Given the description of an element on the screen output the (x, y) to click on. 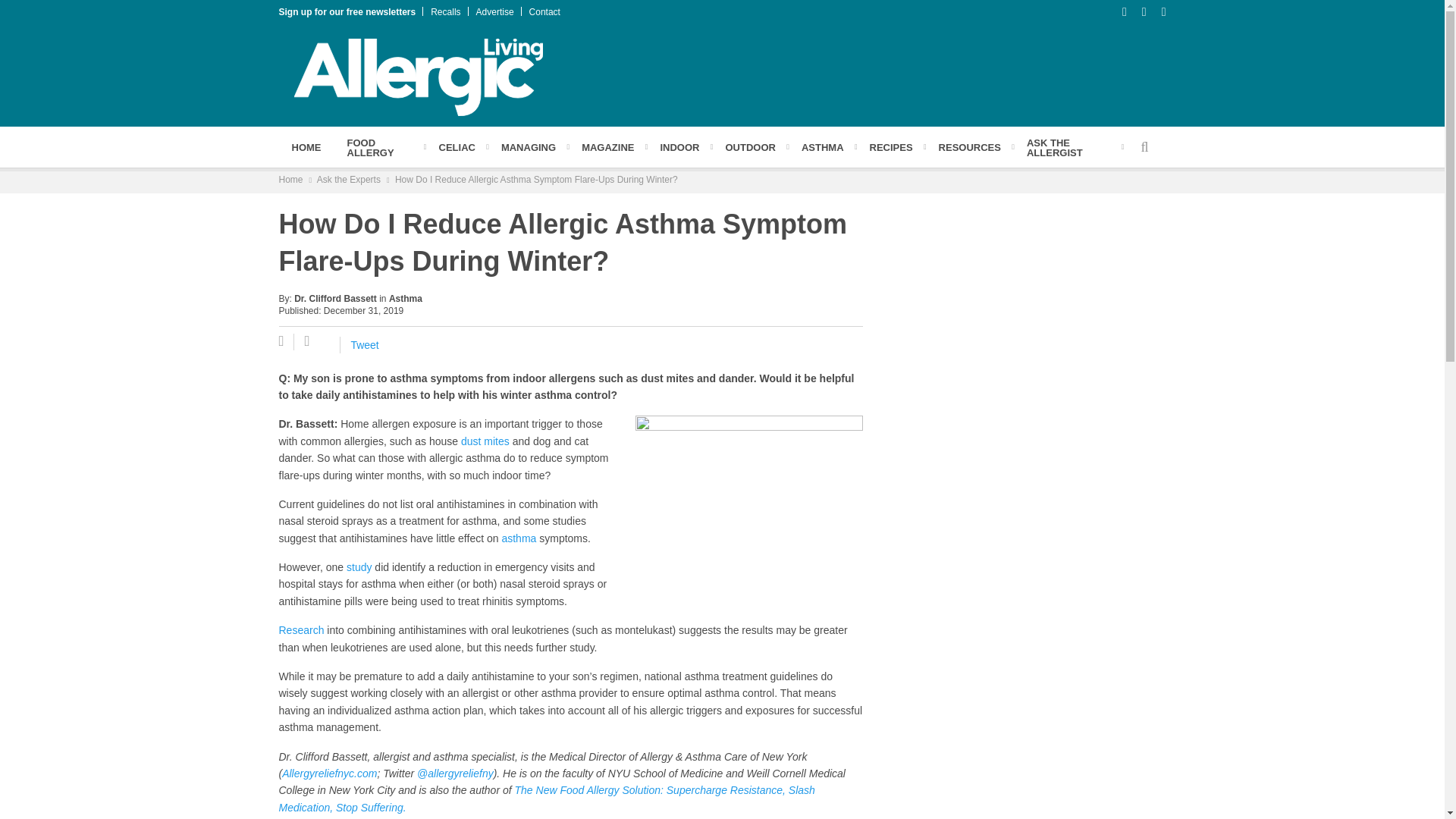
Recalls (445, 11)
Sign up for our free newsletters (346, 11)
CELIAC (456, 146)
Advertise (494, 11)
Food Allergy (379, 146)
MANAGING (528, 146)
HOME (306, 146)
FOOD ALLERGY (379, 146)
Contact (544, 11)
Allergic Living (418, 75)
Posts by Dr. Clifford Bassett (335, 298)
